Given the description of an element on the screen output the (x, y) to click on. 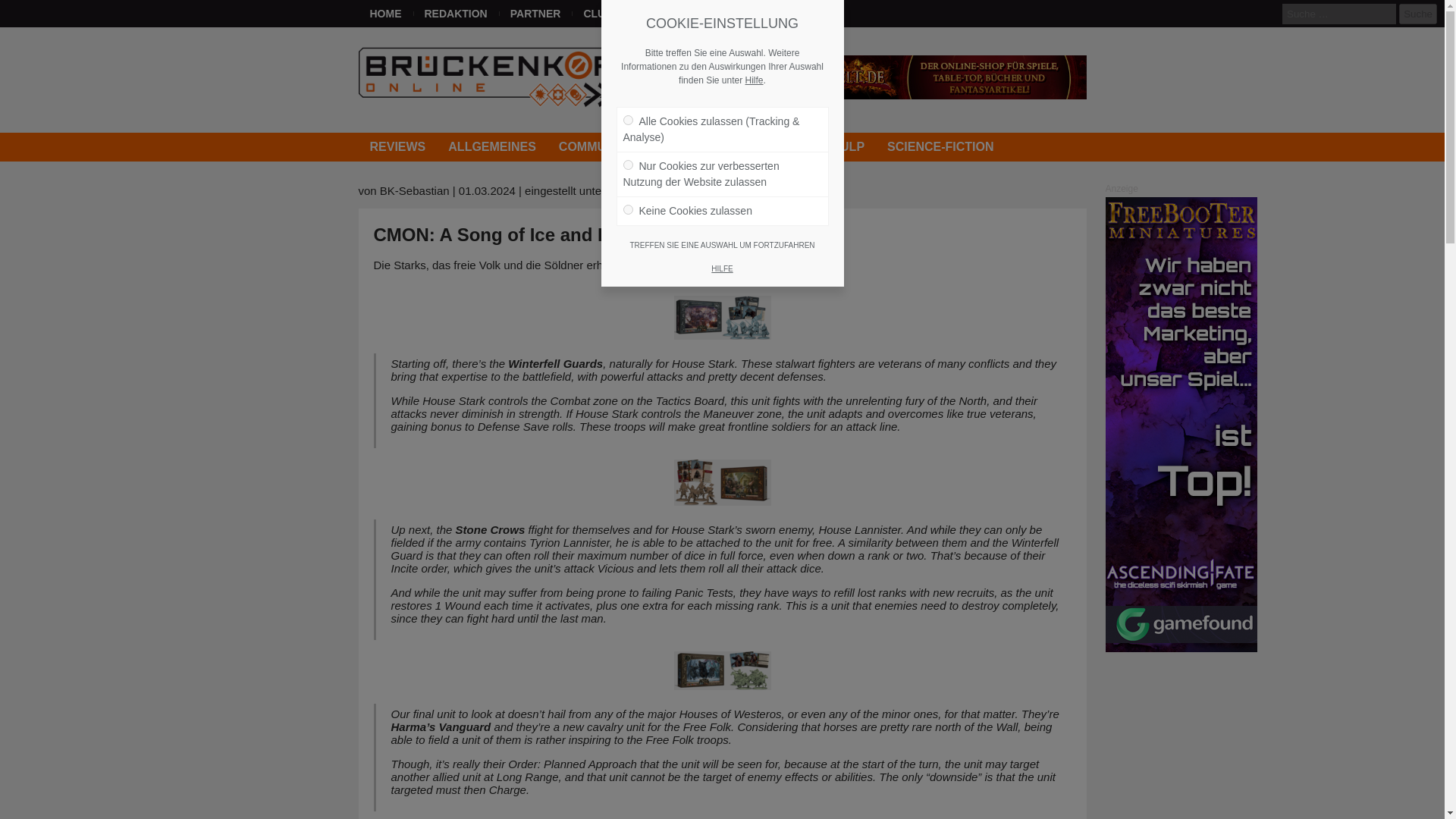
ALLGEMEINES (491, 146)
REDAKTION (454, 13)
Suche (1418, 14)
first-party (628, 164)
Suche (1418, 14)
Suche (1418, 14)
FANTASY (684, 146)
all (628, 120)
COMMUNITY (596, 146)
reject-all (628, 209)
REVIEWS (397, 146)
HOME (385, 13)
CLUBS (601, 13)
PARTNER (535, 13)
